Given the description of an element on the screen output the (x, y) to click on. 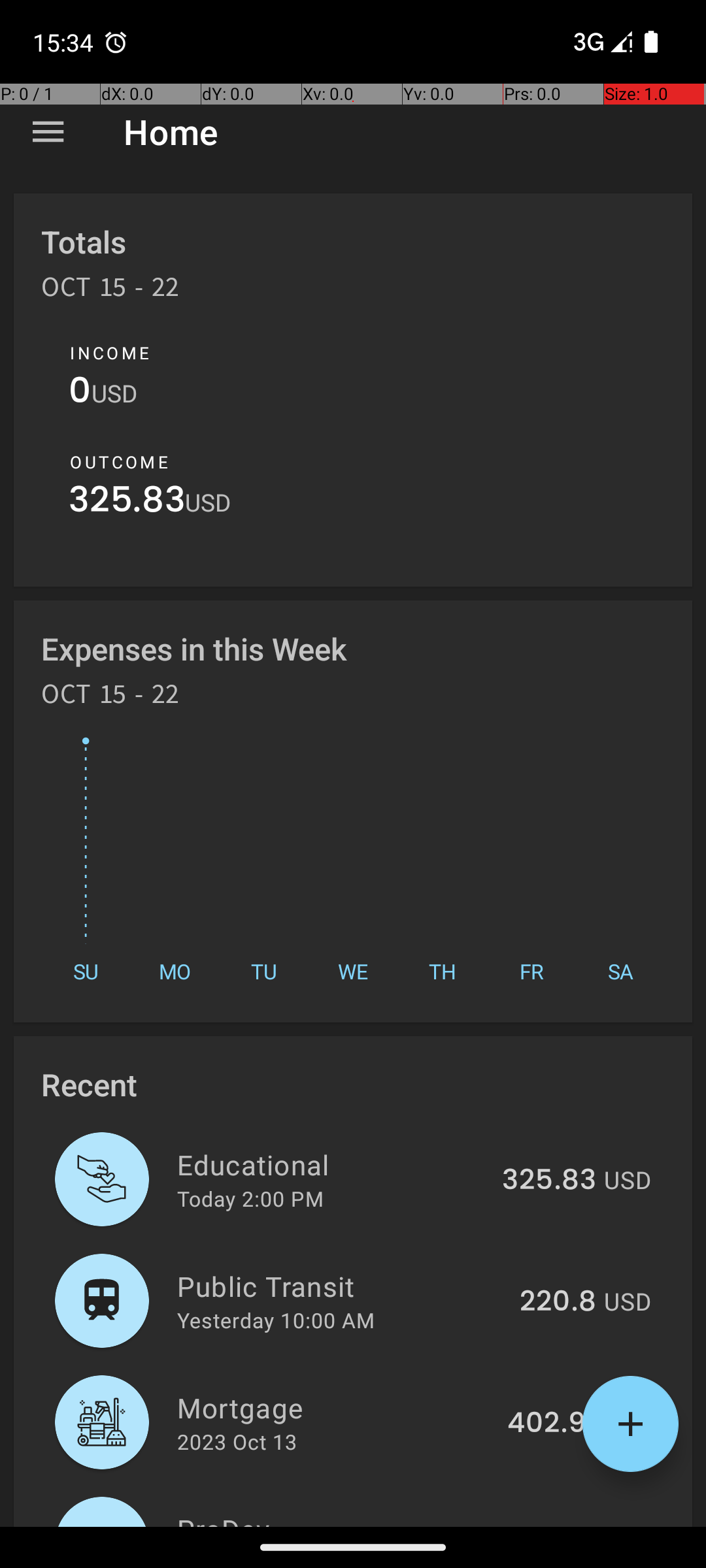
325.83 Element type: android.widget.TextView (126, 502)
Educational Element type: android.widget.TextView (331, 1164)
Public Transit Element type: android.widget.TextView (340, 1285)
Yesterday 10:00 AM Element type: android.widget.TextView (275, 1320)
220.8 Element type: android.widget.TextView (557, 1301)
402.91 Element type: android.widget.TextView (551, 1423)
ProDev Element type: android.widget.TextView (329, 1518)
454.08 Element type: android.widget.TextView (546, 1524)
